Given the description of an element on the screen output the (x, y) to click on. 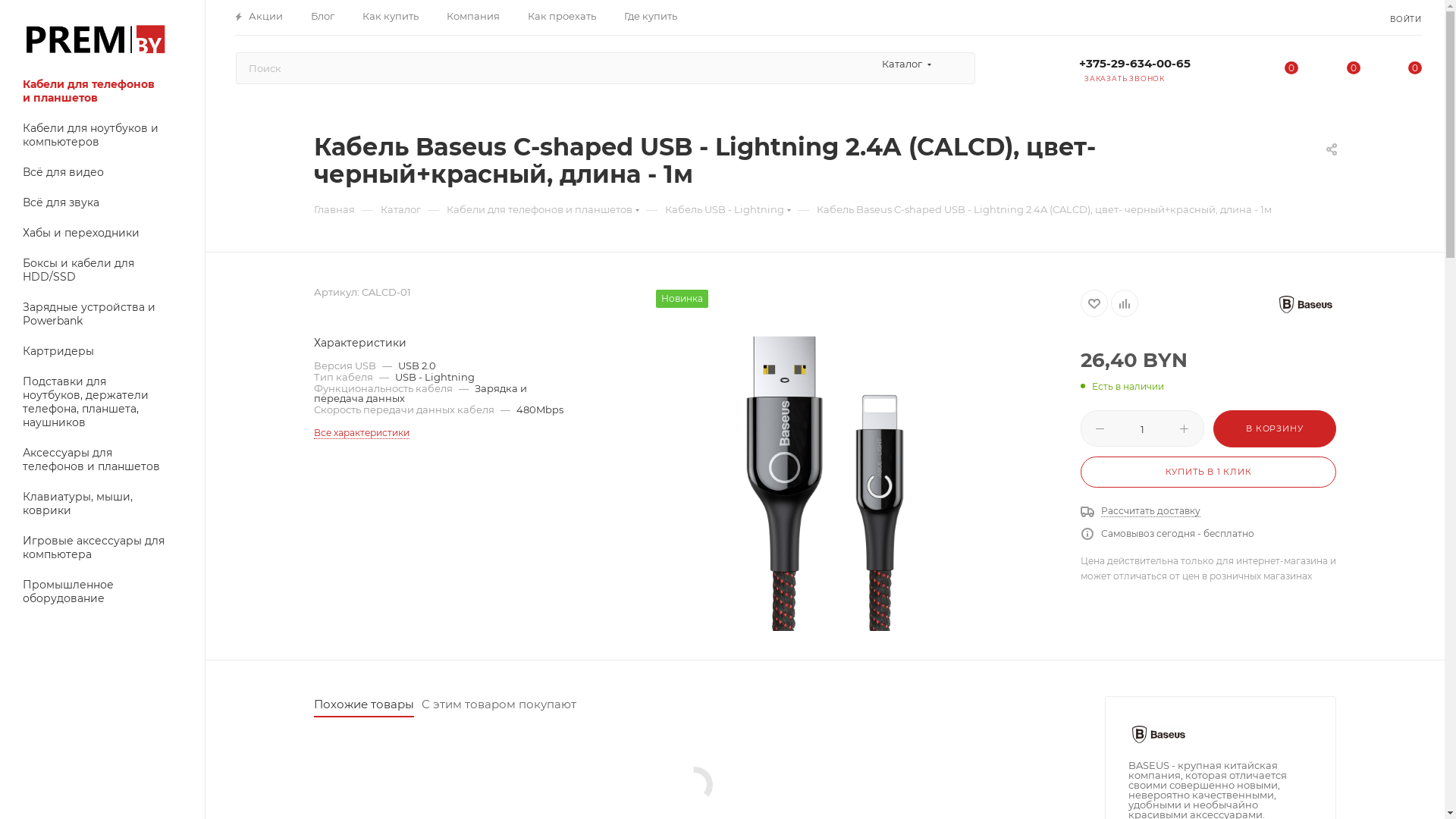
Baseus Element type: hover (1305, 304)
0 Element type: text (1261, 69)
0 Element type: text (1344, 69)
Baseus Element type: hover (1158, 734)
0 Element type: text (1406, 69)
+375-29-634-00-65 Element type: text (1134, 65)
prem.by Element type: hover (94, 38)
